Given the description of an element on the screen output the (x, y) to click on. 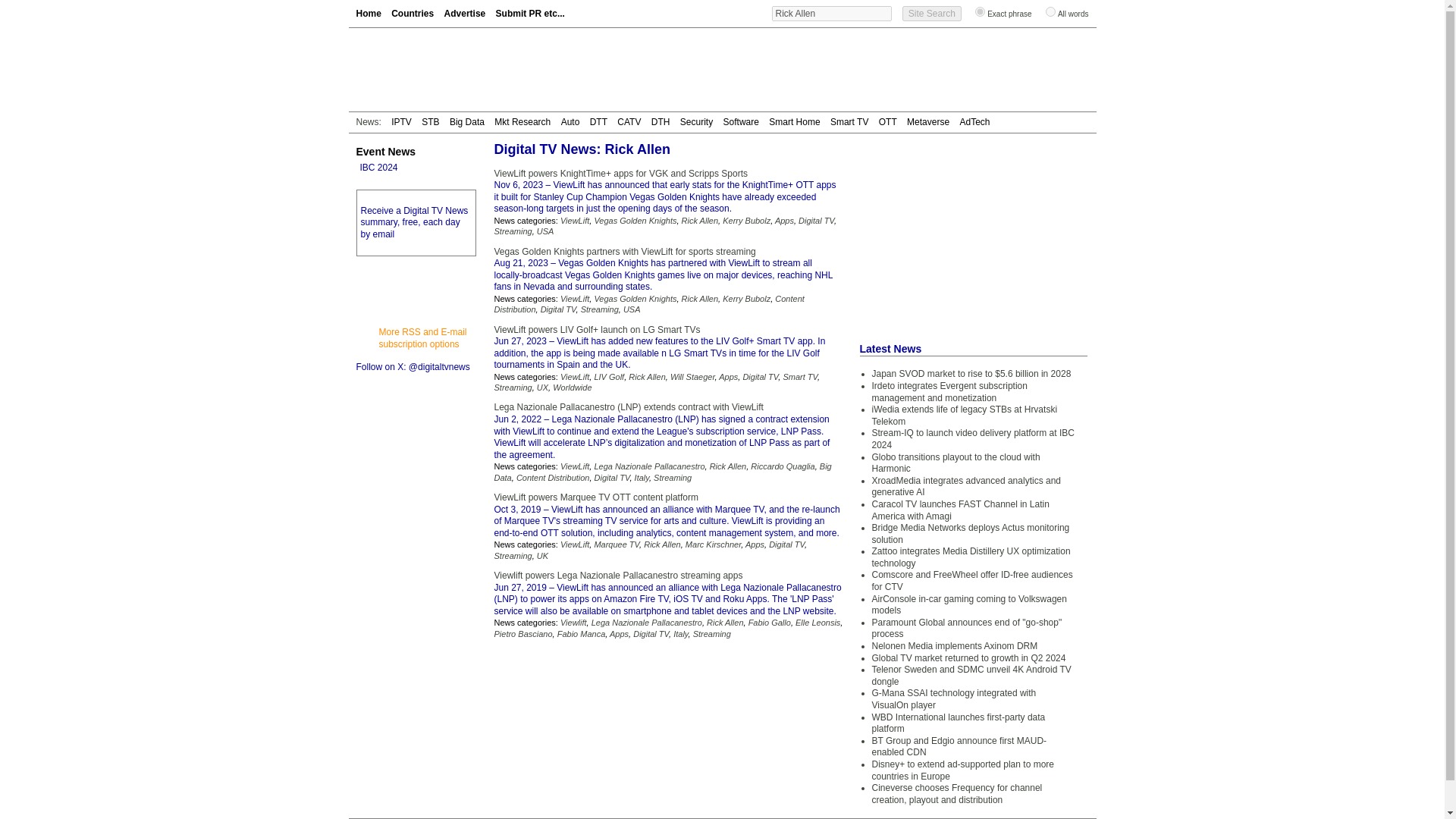
Kerry Bubolz (746, 220)
STB (430, 122)
Countries (412, 13)
Apps (783, 220)
Site Search (931, 13)
Streaming (513, 230)
Advertise (465, 13)
Metaverse (928, 122)
Digital TV News (437, 70)
Software (740, 122)
